Given the description of an element on the screen output the (x, y) to click on. 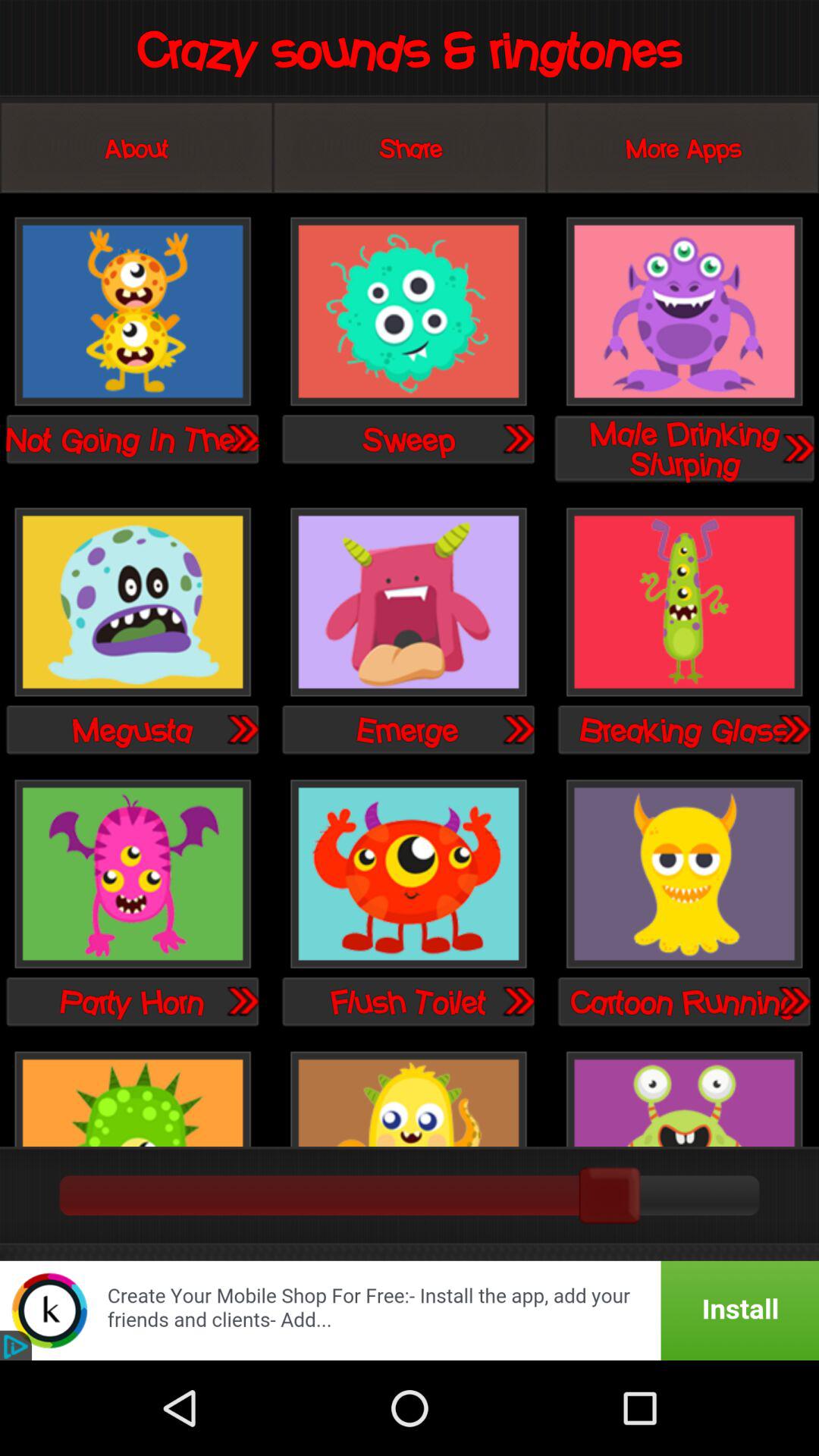
click to hear (242, 728)
